Given the description of an element on the screen output the (x, y) to click on. 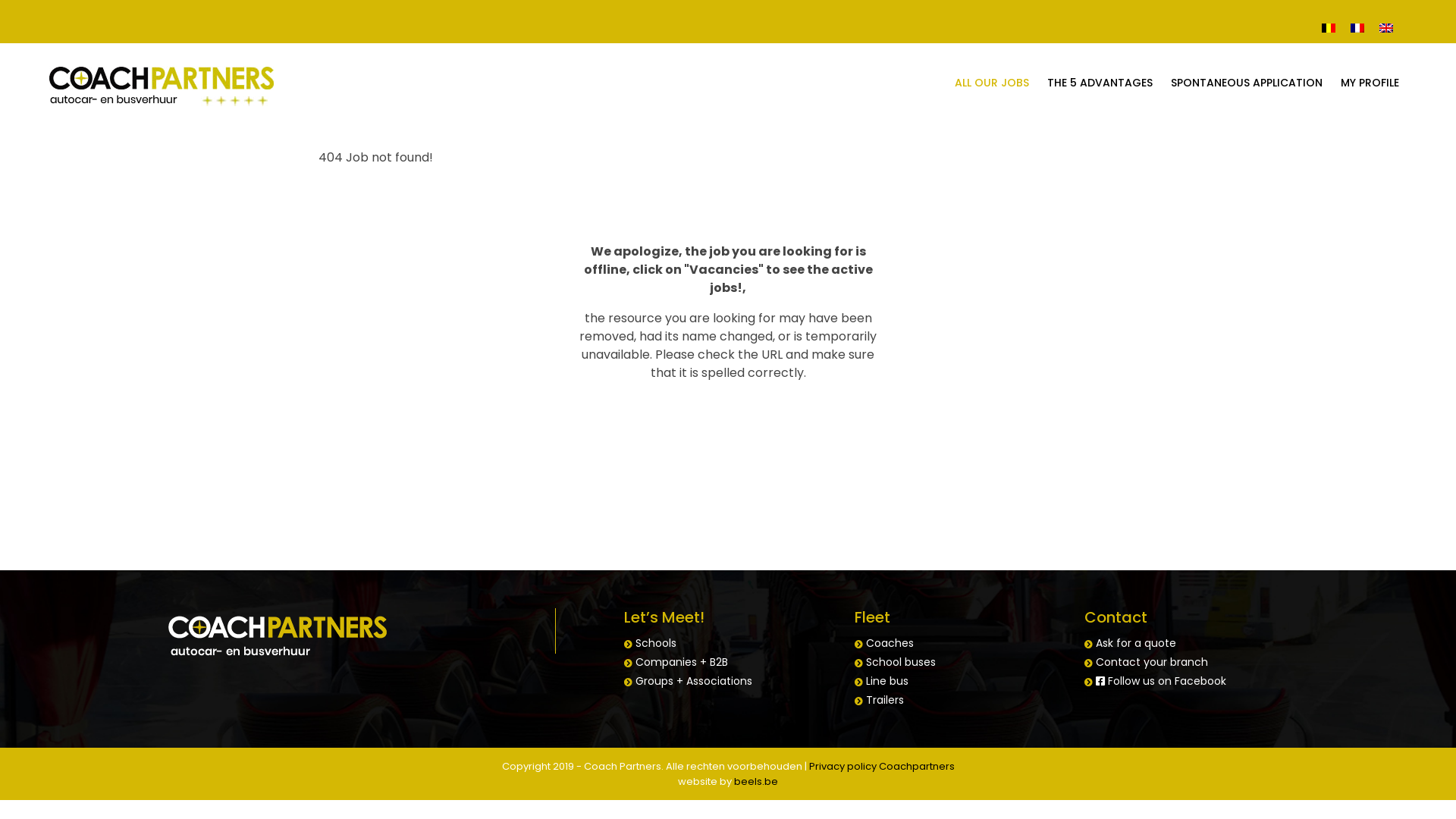
Groups + Associations Element type: text (693, 680)
School buses Element type: text (900, 661)
Companies + B2B Element type: text (681, 661)
Coaches Element type: text (889, 642)
English Element type: hover (1385, 27)
THE 5 ADVANTAGES Element type: text (1099, 82)
French Element type: hover (1357, 27)
SPONTANEOUS APPLICATION Element type: text (1246, 82)
Line bus Element type: text (887, 680)
Privacy policy Coachpartners Element type: text (880, 766)
MY PROFILE Element type: text (1369, 82)
DutchFlemish Element type: hover (1328, 27)
ALL OUR JOBS Element type: text (991, 82)
Follow us on Facebook Element type: text (1160, 680)
Contact your branch Element type: text (1151, 661)
beels.be Element type: text (756, 781)
Trailers Element type: text (884, 699)
Ask for a quote Element type: text (1135, 642)
Schools Element type: text (655, 642)
